Given the description of an element on the screen output the (x, y) to click on. 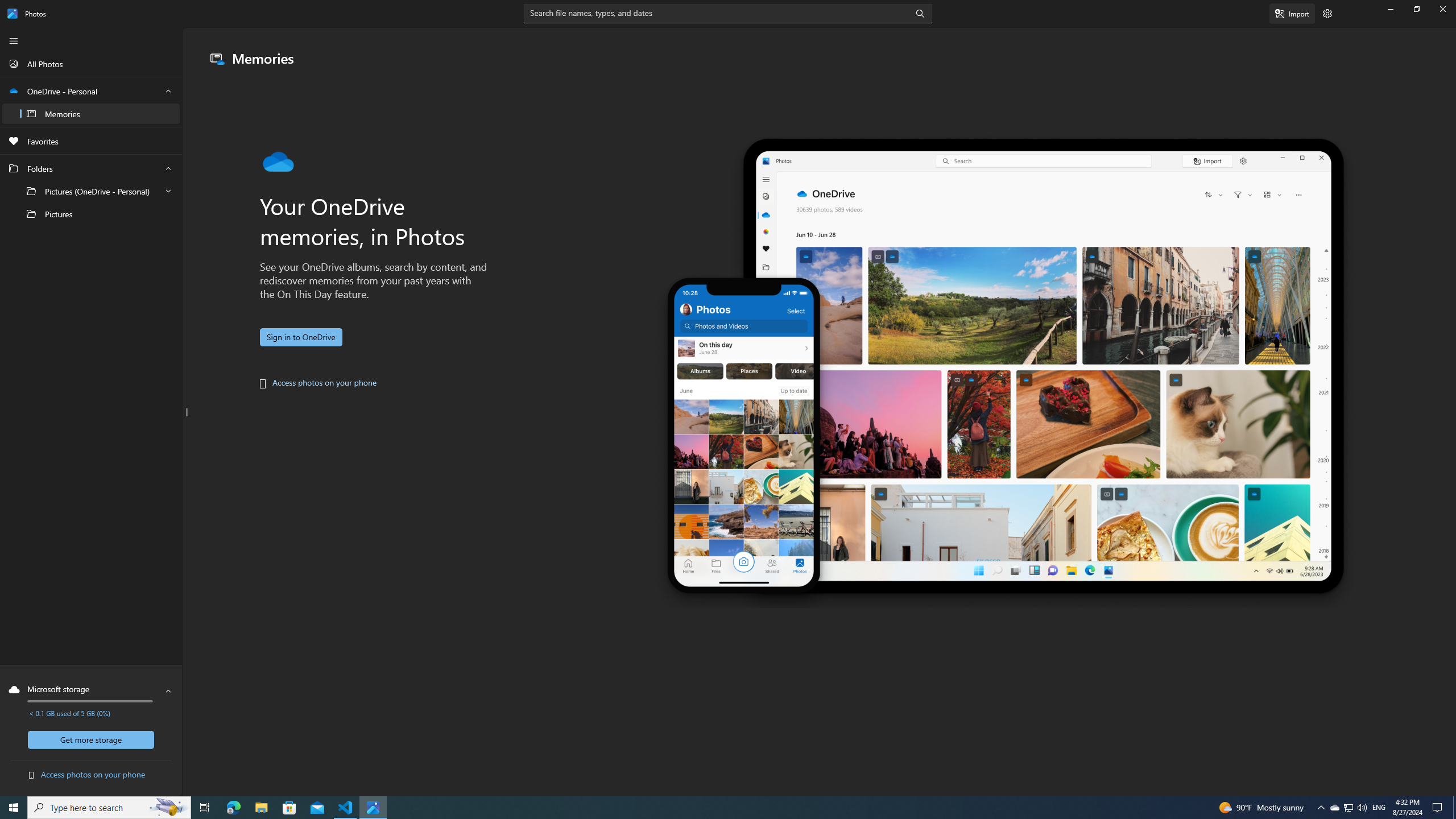
Microsoft Edge (233, 807)
< 0.1 GB used of 5 GB (0%) (69, 712)
Action Center, No new notifications (1439, 807)
Access photos on your phone (324, 382)
Show desktop (1454, 807)
Folders (90, 191)
Photos - 1 running window (373, 807)
Import photos (1292, 13)
Notification Chevron (1320, 807)
User Promoted Notification Area (1347, 807)
Search file names, types, and dates (727, 13)
OneDrive - Personal (90, 102)
Close Navigation (13, 40)
